Given the description of an element on the screen output the (x, y) to click on. 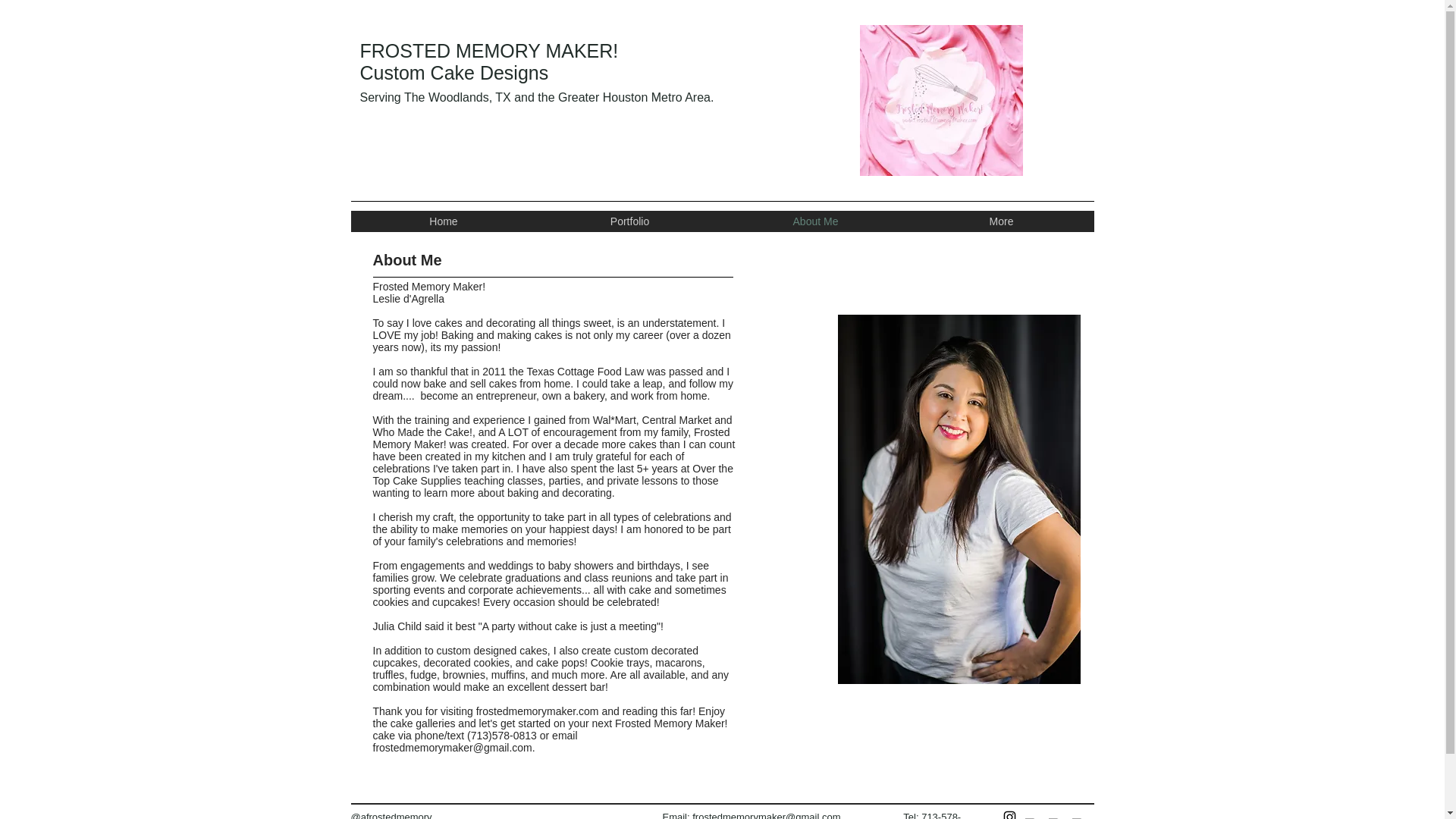
About Me (814, 220)
Home (442, 220)
Portfolio (629, 220)
